Given the description of an element on the screen output the (x, y) to click on. 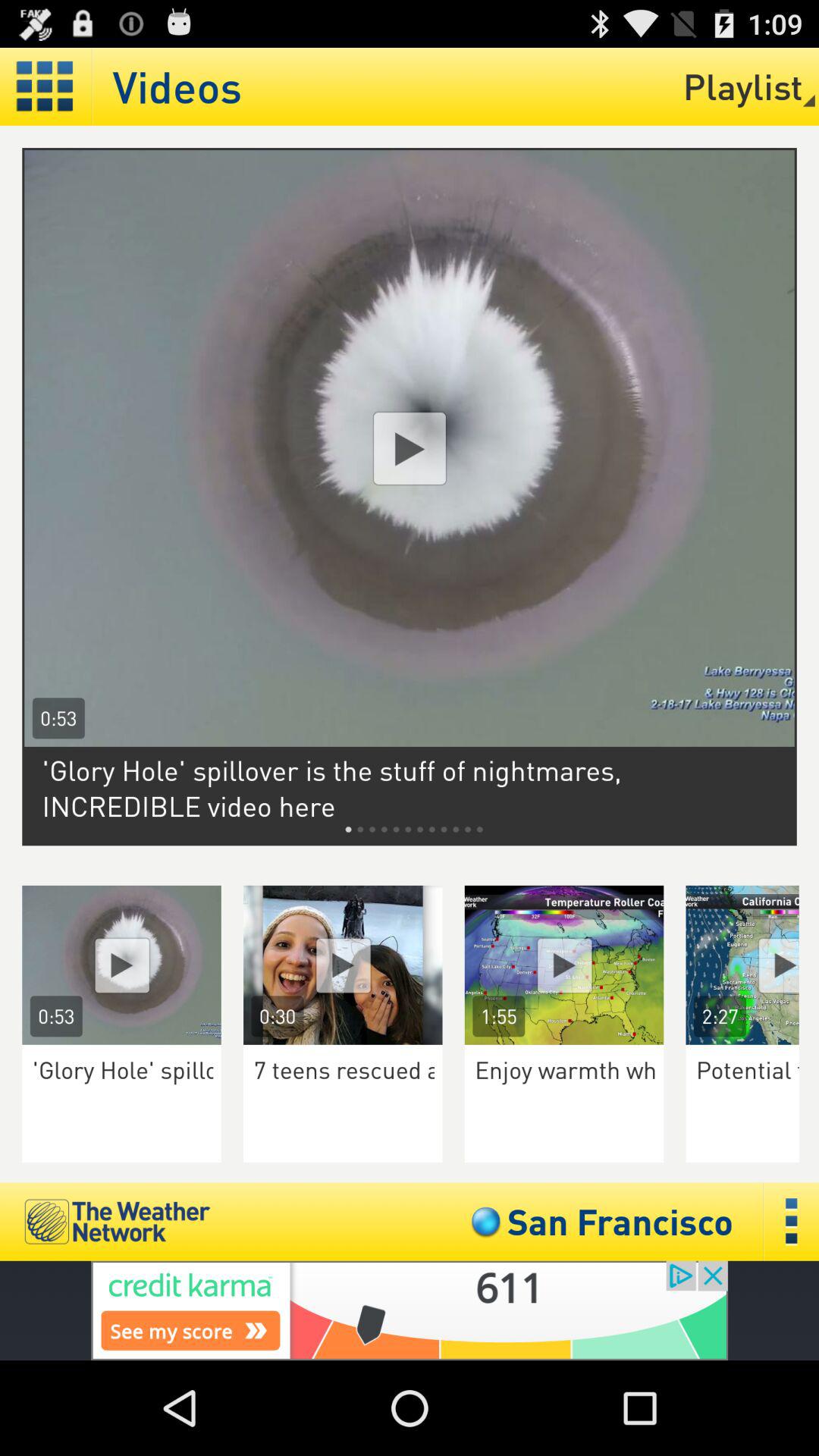
video icon (752, 964)
